Given the description of an element on the screen output the (x, y) to click on. 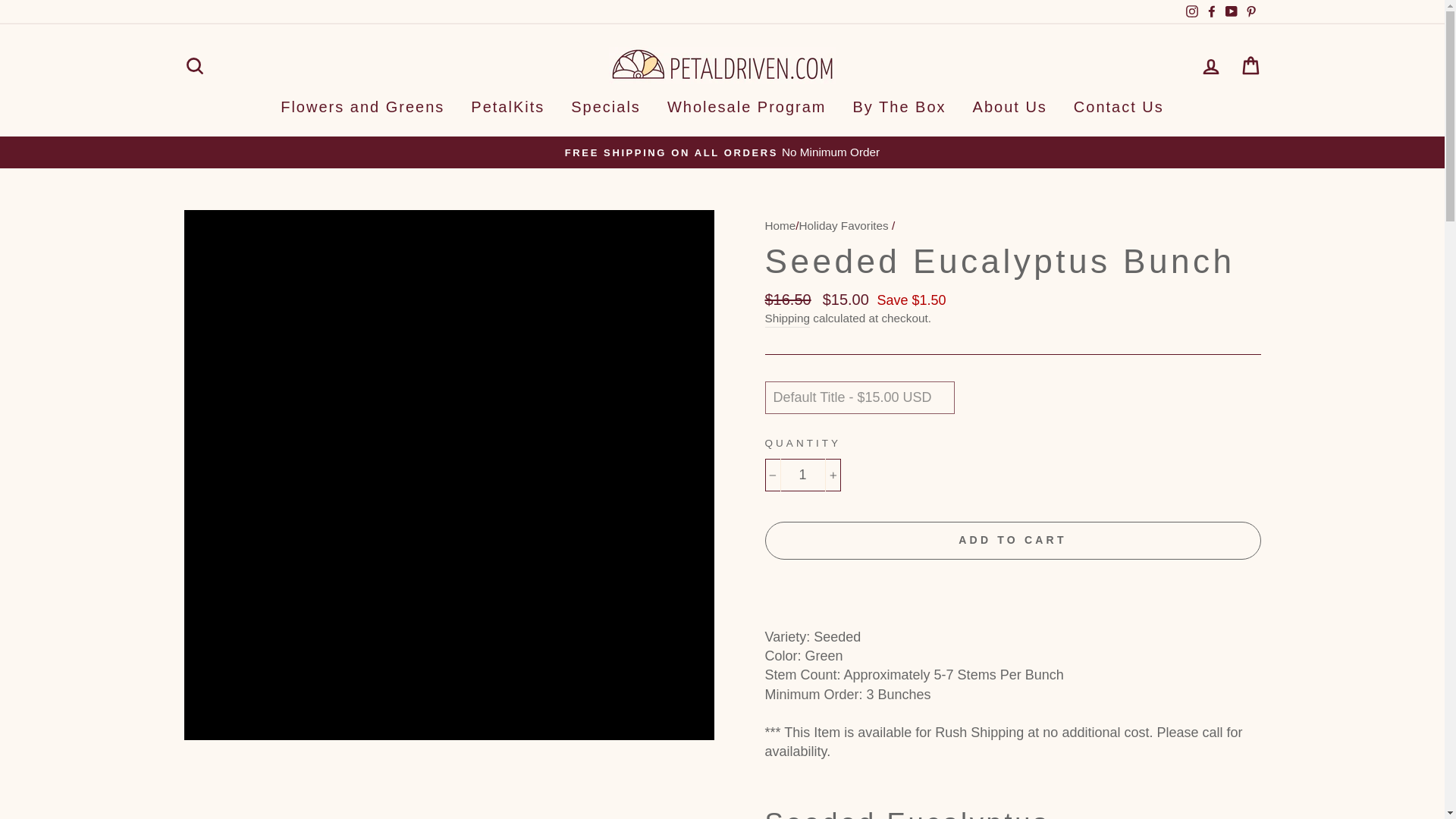
1 (802, 474)
Back to the frontpage (779, 225)
